Given the description of an element on the screen output the (x, y) to click on. 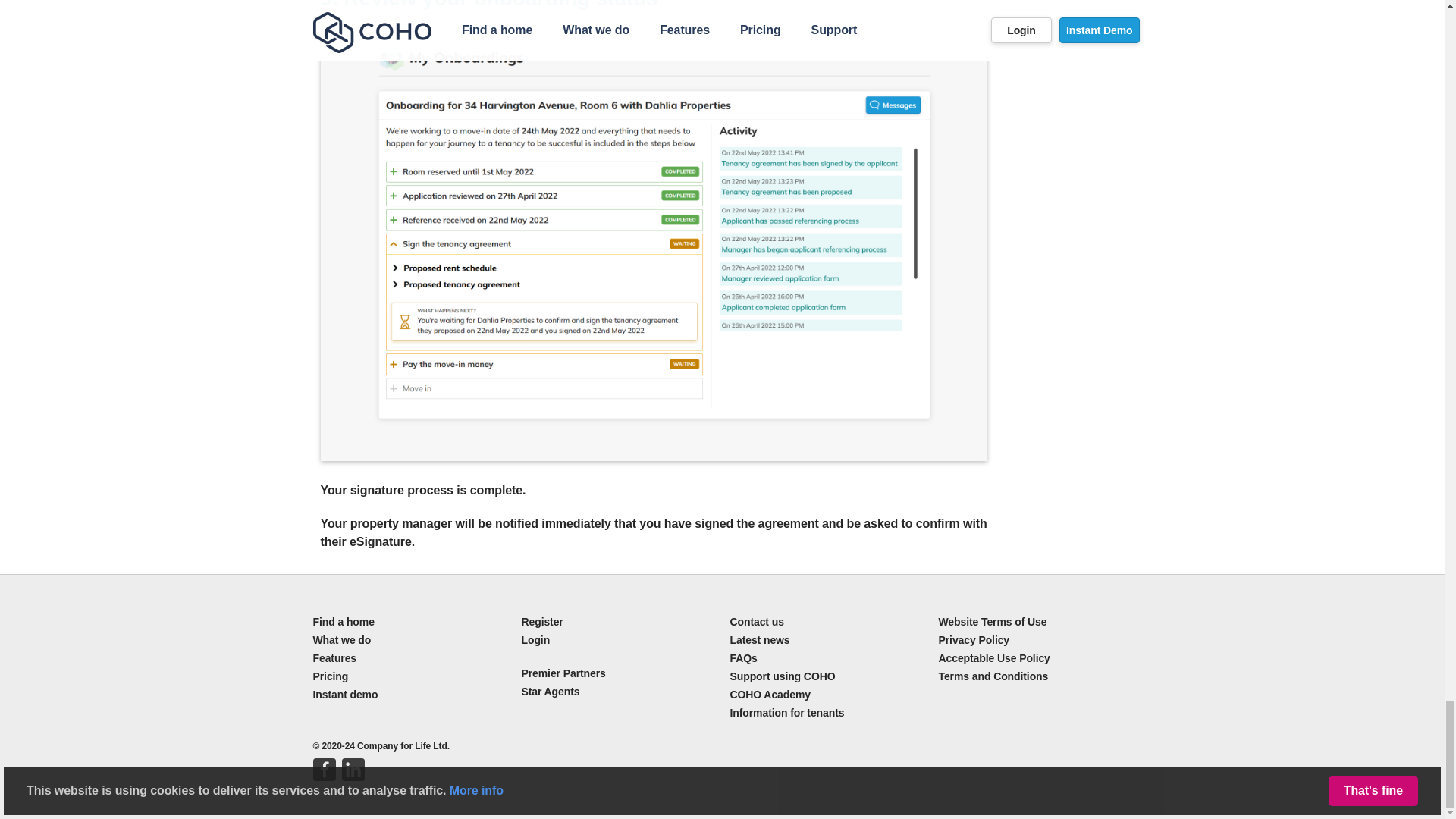
Pricing (330, 676)
What we do (342, 639)
Find a home (343, 621)
Instant demo (345, 694)
Features (334, 657)
